Given the description of an element on the screen output the (x, y) to click on. 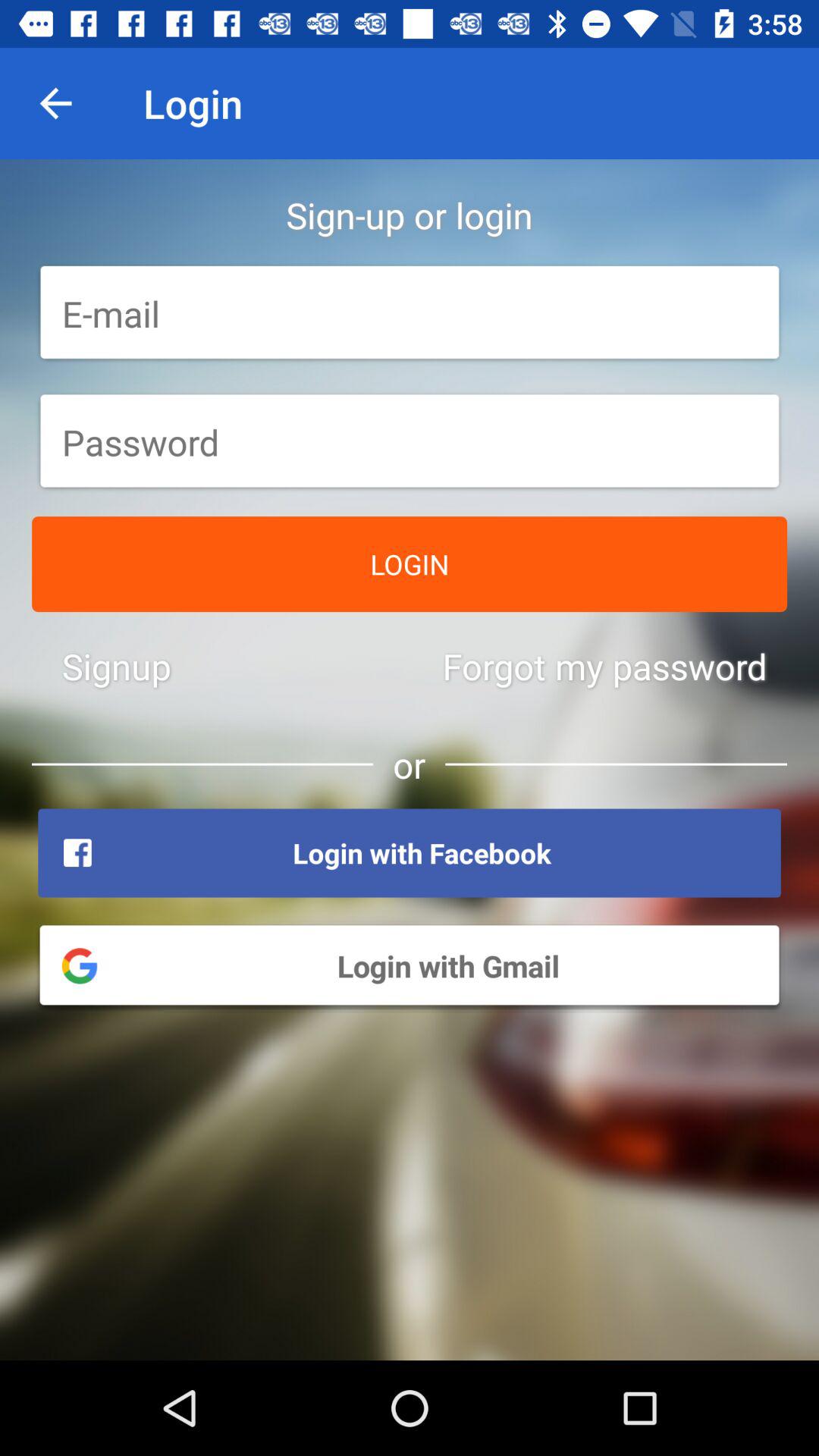
flip to the forgot my password icon (604, 665)
